Given the description of an element on the screen output the (x, y) to click on. 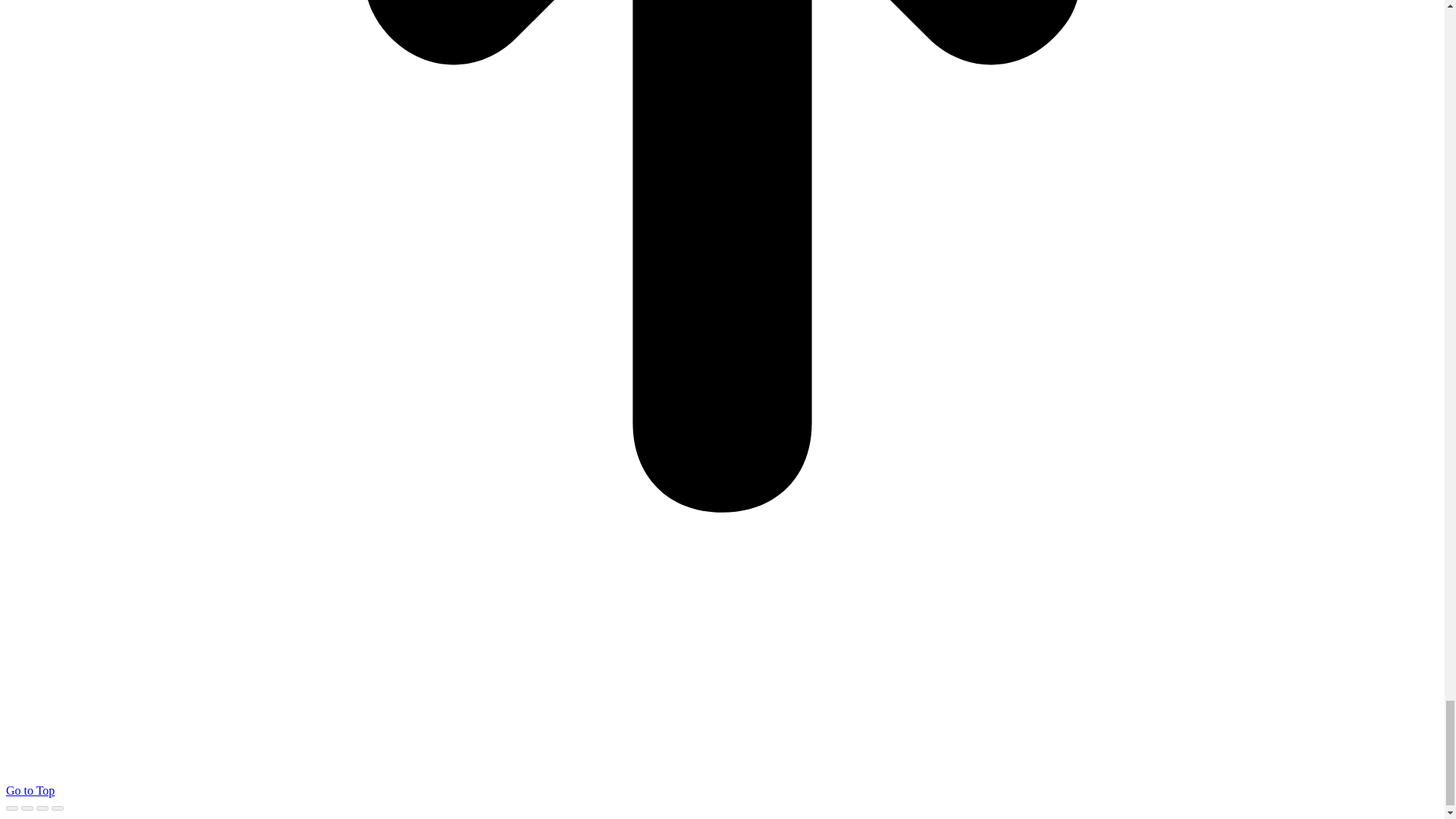
Toggle fullscreen (42, 807)
Share (27, 807)
